Given the description of an element on the screen output the (x, y) to click on. 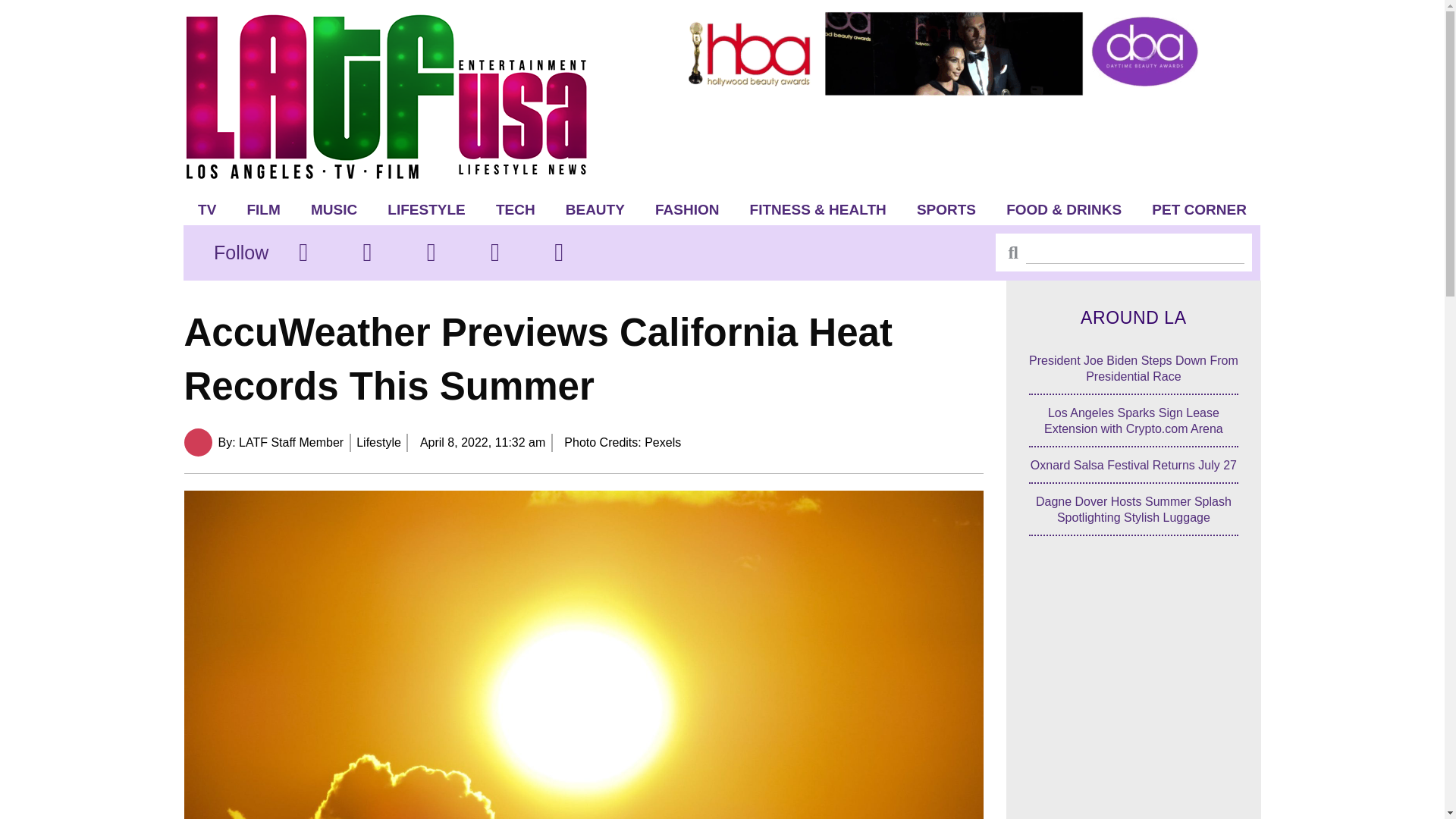
TECH (515, 209)
FASHION (687, 209)
MUSIC (333, 209)
BEAUTY (595, 209)
TV (207, 209)
SPORTS (946, 209)
PET CORNER (1199, 209)
FILM (263, 209)
LIFESTYLE (426, 209)
